Given the description of an element on the screen output the (x, y) to click on. 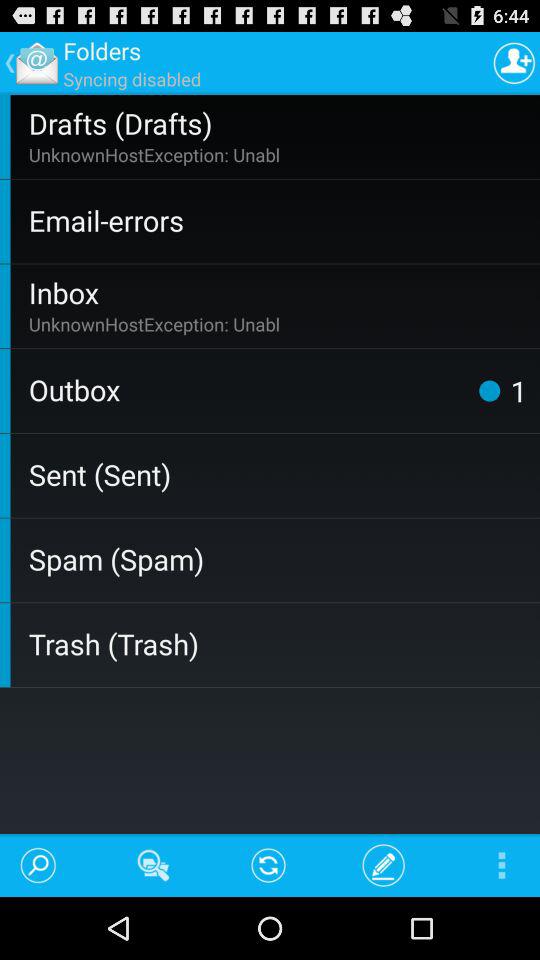
scroll until inbox app (280, 292)
